Given the description of an element on the screen output the (x, y) to click on. 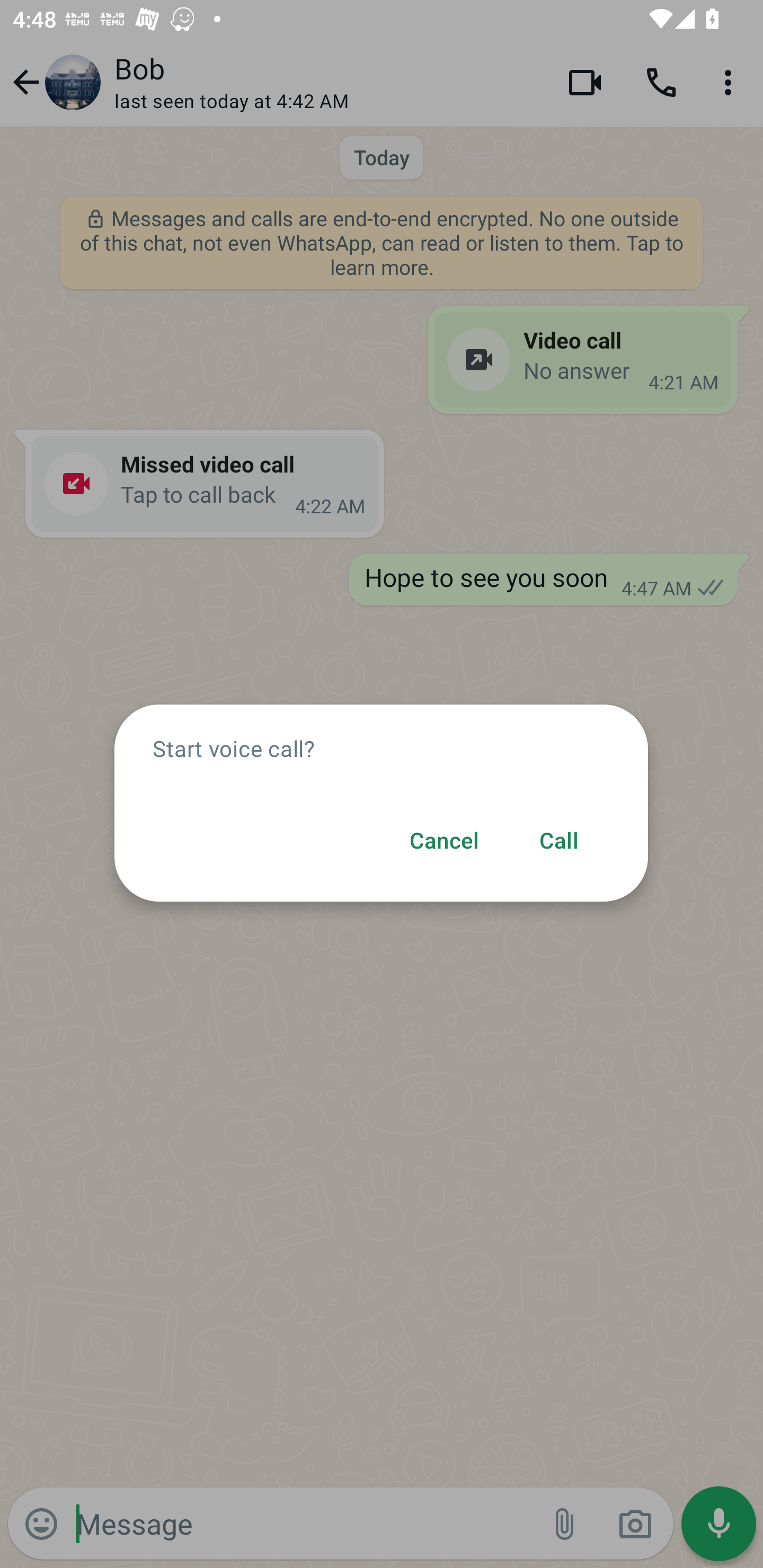
Cancel (444, 840)
Call (558, 840)
